Given the description of an element on the screen output the (x, y) to click on. 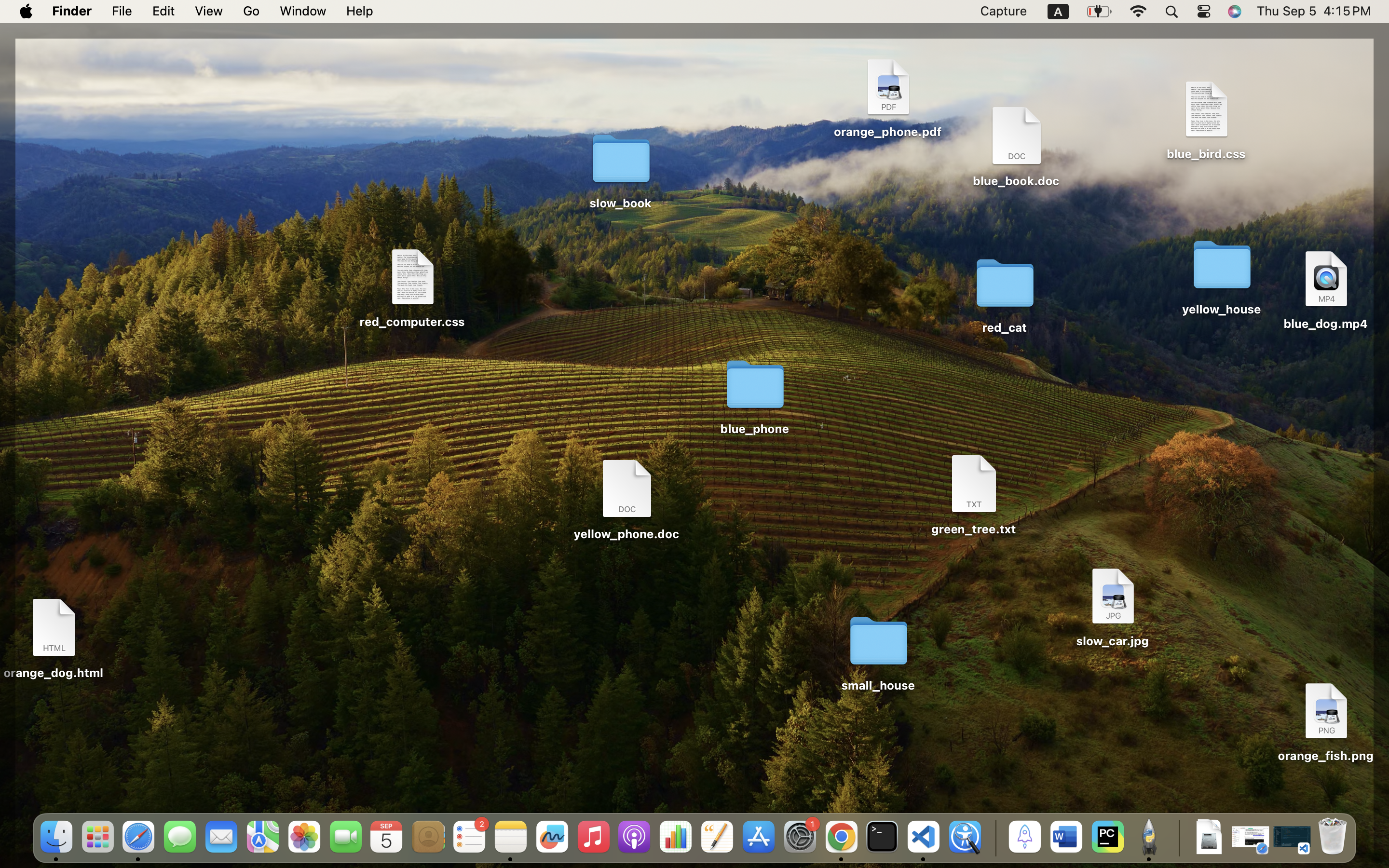
0.4285714328289032 Element type: AXDockItem (993, 837)
